Given the description of an element on the screen output the (x, y) to click on. 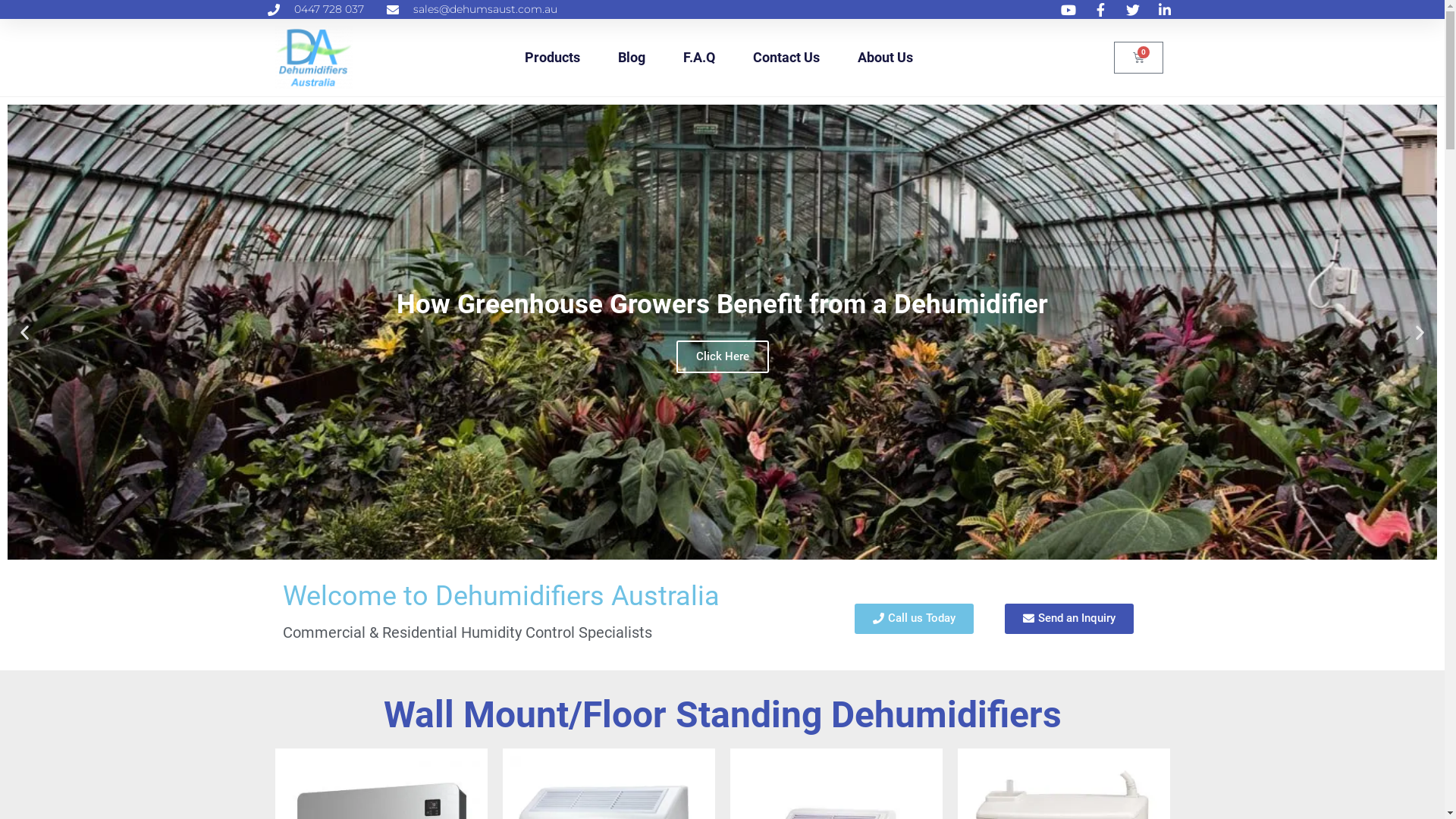
About Us Element type: text (885, 57)
F.A.Q Element type: text (699, 57)
0447 728 037 Element type: text (314, 9)
0 Element type: text (1138, 57)
logo v3 Element type: hover (313, 57)
Send an Inquiry Element type: text (1068, 618)
Products Element type: text (552, 57)
Blog Element type: text (631, 57)
Call us Today Element type: text (913, 618)
sales@dehumsaust.com.au Element type: text (471, 9)
Contact Us Element type: text (786, 57)
